Given the description of an element on the screen output the (x, y) to click on. 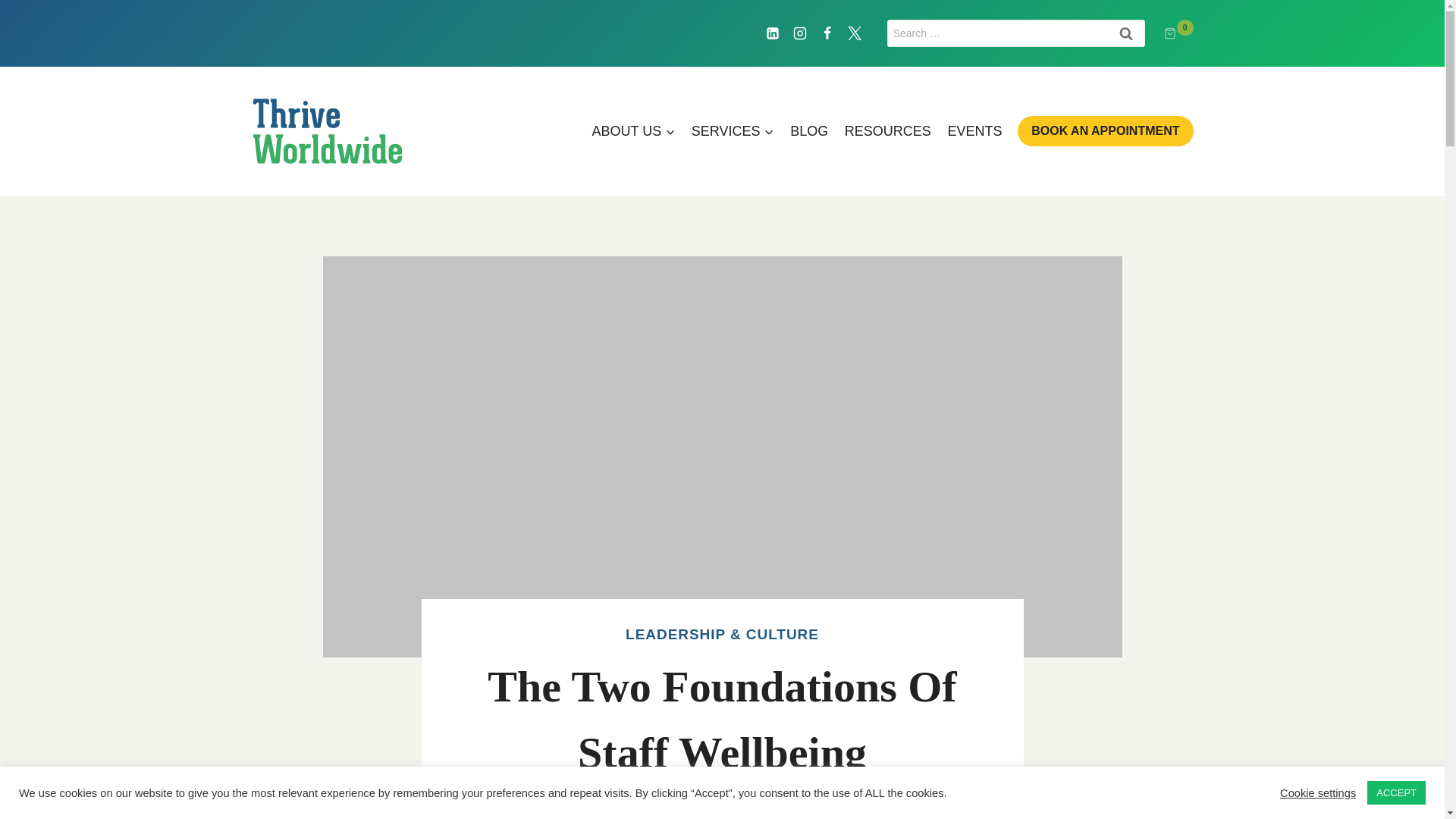
Search (1125, 32)
Search (1125, 32)
BOOK AN APPOINTMENT (1104, 130)
SERVICES (731, 130)
BLOG (808, 130)
0 (1178, 33)
ABOUT US (632, 130)
EVENTS (974, 130)
RESOURCES (887, 130)
Search (1125, 32)
